Given the description of an element on the screen output the (x, y) to click on. 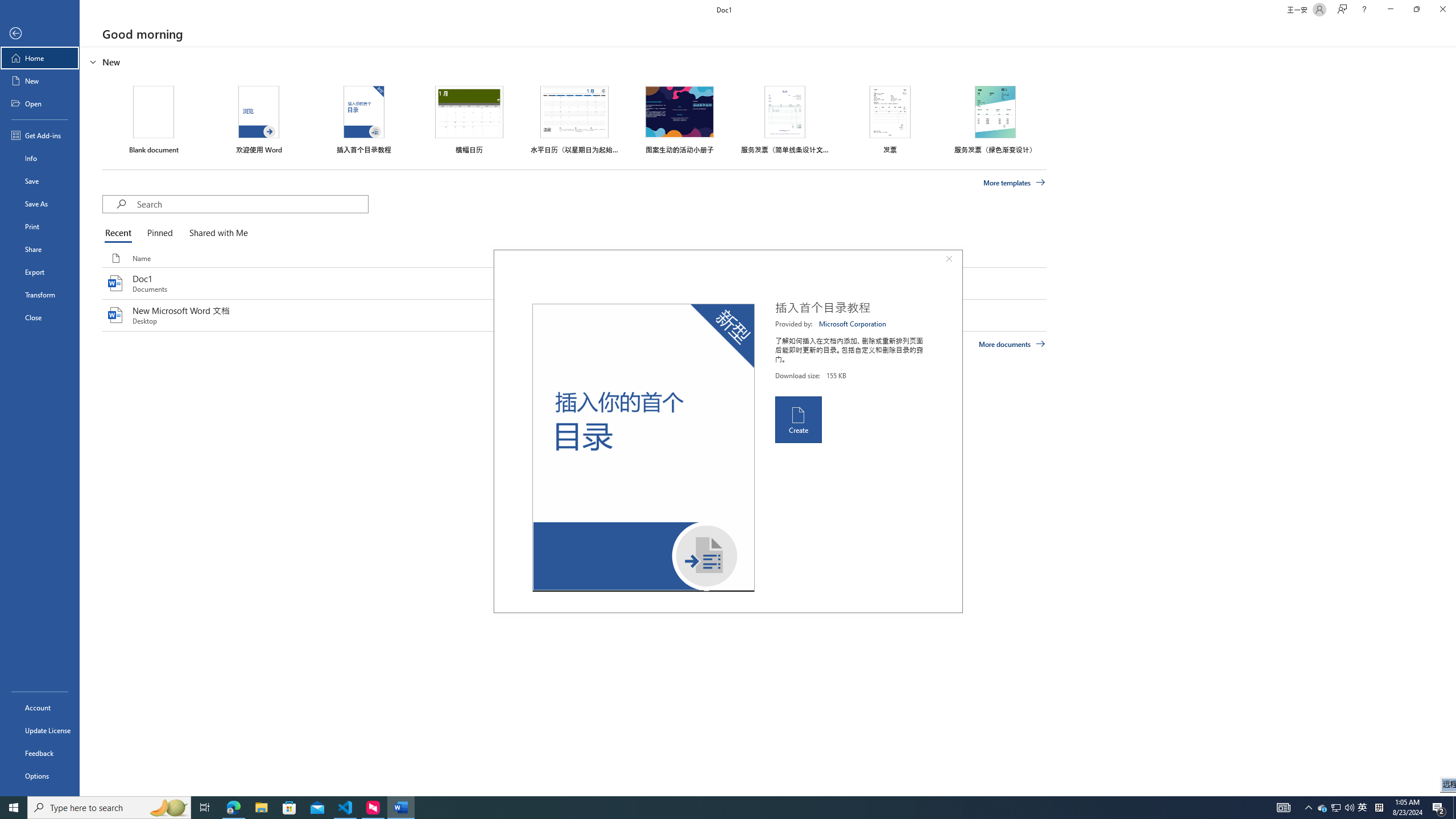
Account (40, 707)
Recent (119, 233)
Hide or show region (92, 61)
Class: NetUIScrollBar (1450, 421)
Feedback (40, 753)
Transform (40, 294)
Microsoft Corporation (853, 323)
Pin this item to the list (739, 314)
Create (797, 419)
Blank document (153, 119)
Shared with Me (215, 233)
Export (40, 271)
Doc1 (573, 283)
